Given the description of an element on the screen output the (x, y) to click on. 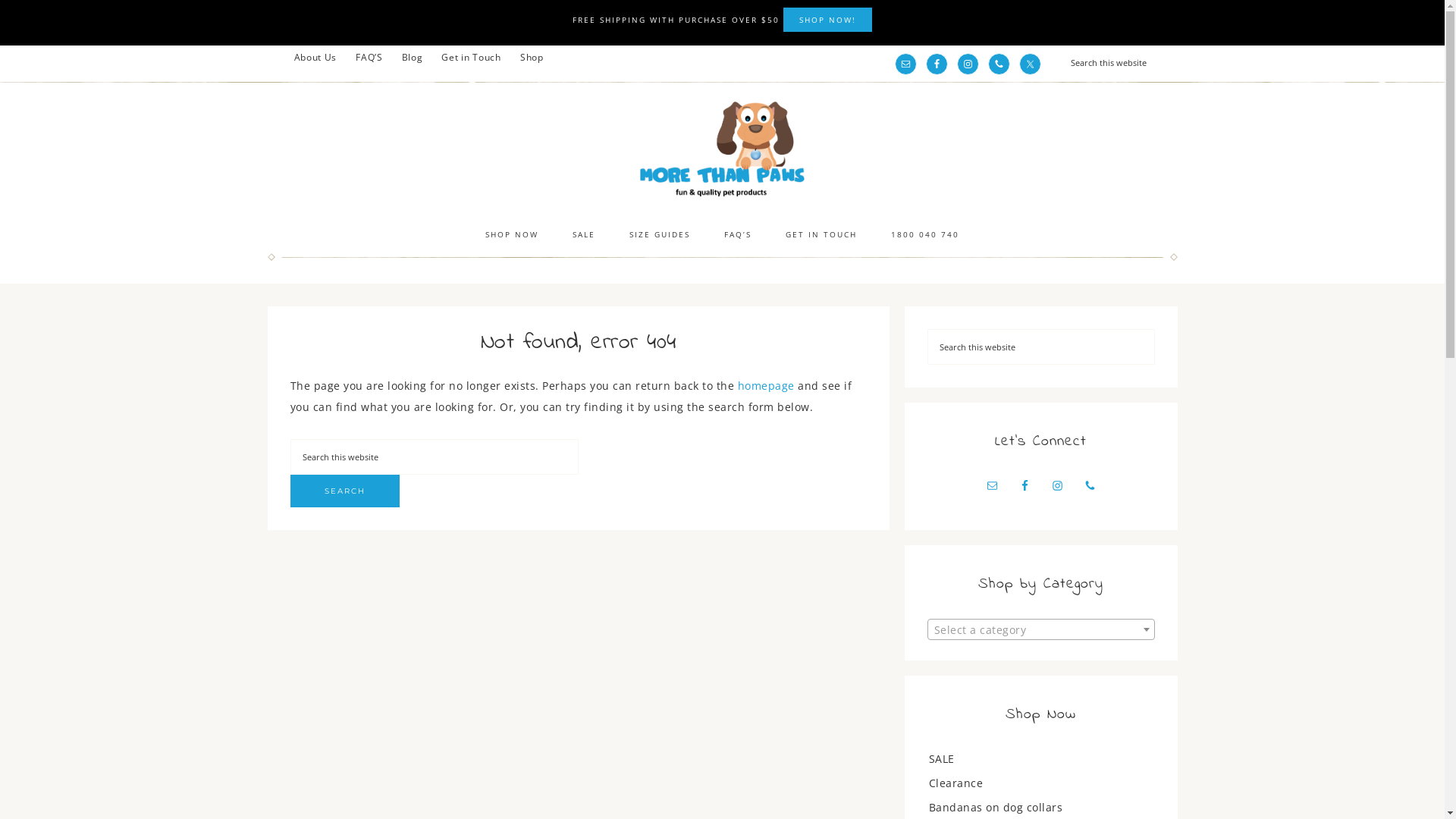
Bandanas on dog collars Element type: text (995, 807)
Get in Touch Element type: text (470, 57)
SALE Element type: text (940, 758)
homepage Element type: text (765, 385)
GET IN TOUCH Element type: text (821, 234)
Search Element type: text (343, 490)
Clearance Element type: text (955, 782)
Search Element type: text (1176, 44)
SIZE GUIDES Element type: text (659, 234)
SALE Element type: text (583, 234)
Search Element type: text (1154, 328)
Shop Element type: text (531, 57)
SHOP NOW Element type: text (511, 234)
1800 040 740 Element type: text (924, 234)
SHOP NOW! Element type: text (827, 19)
MORE THAN PAWS - FUN ACCESSORIES FOR PETS WITH PERSONALITY! Element type: text (721, 148)
Blog Element type: text (412, 57)
About Us Element type: text (315, 57)
